Given the description of an element on the screen output the (x, y) to click on. 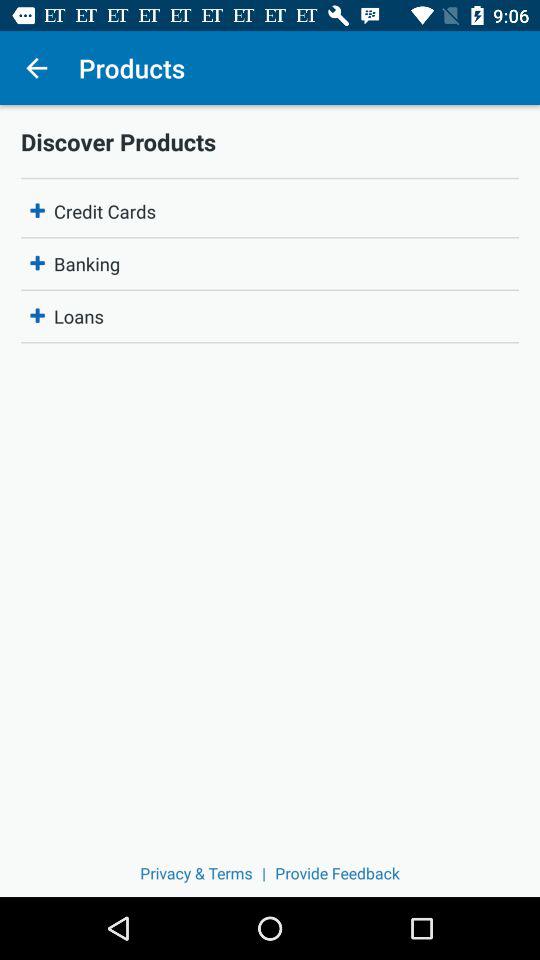
flip to the discover products icon (270, 141)
